Given the description of an element on the screen output the (x, y) to click on. 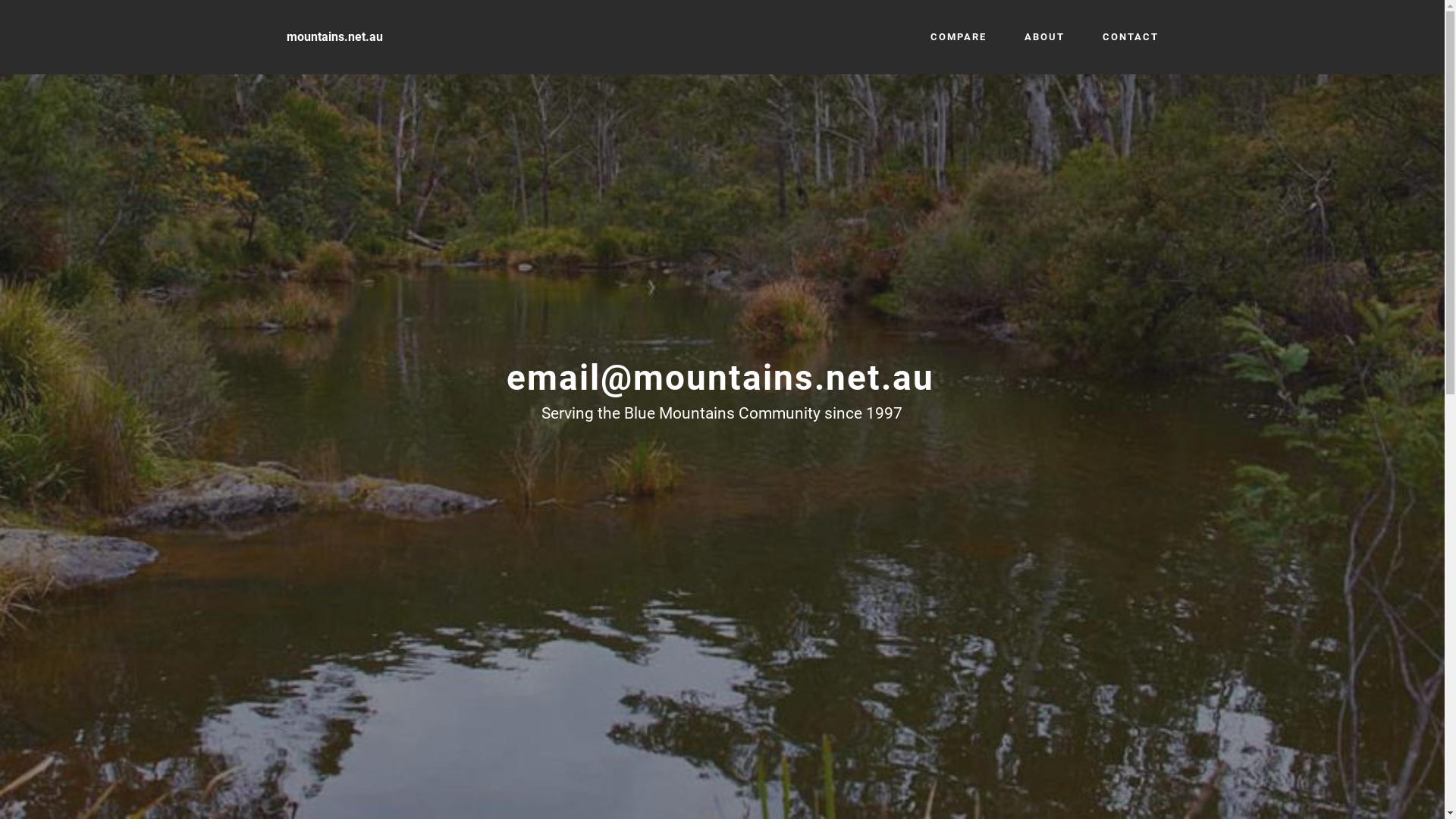
COMPARE Element type: text (957, 36)
ABOUT Element type: text (1043, 36)
CONTACT Element type: text (1130, 36)
mountains.net.au Element type: text (334, 37)
